Given the description of an element on the screen output the (x, y) to click on. 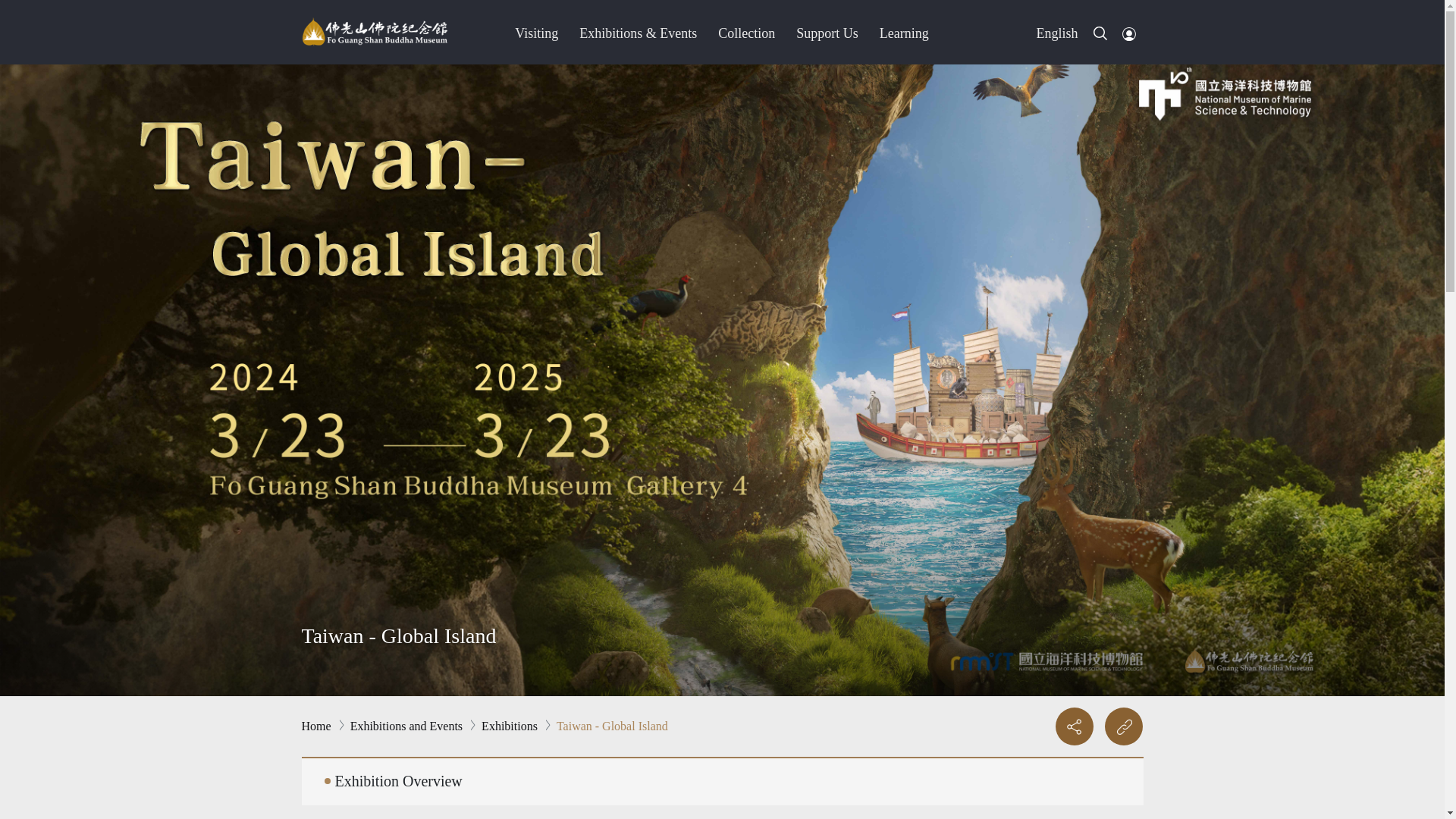
Support Us (827, 31)
Support Us (827, 31)
Learning (904, 31)
Collection (746, 31)
English (1055, 31)
Learning (904, 31)
Visiting (536, 31)
English (1055, 31)
Fo Guang Shan Buddha Museum (373, 31)
Fo Guang Shan Buddha Museum (373, 31)
Visiting (536, 31)
Collection (746, 31)
Fo Guang Shan Buddha Museum (374, 31)
